Given the description of an element on the screen output the (x, y) to click on. 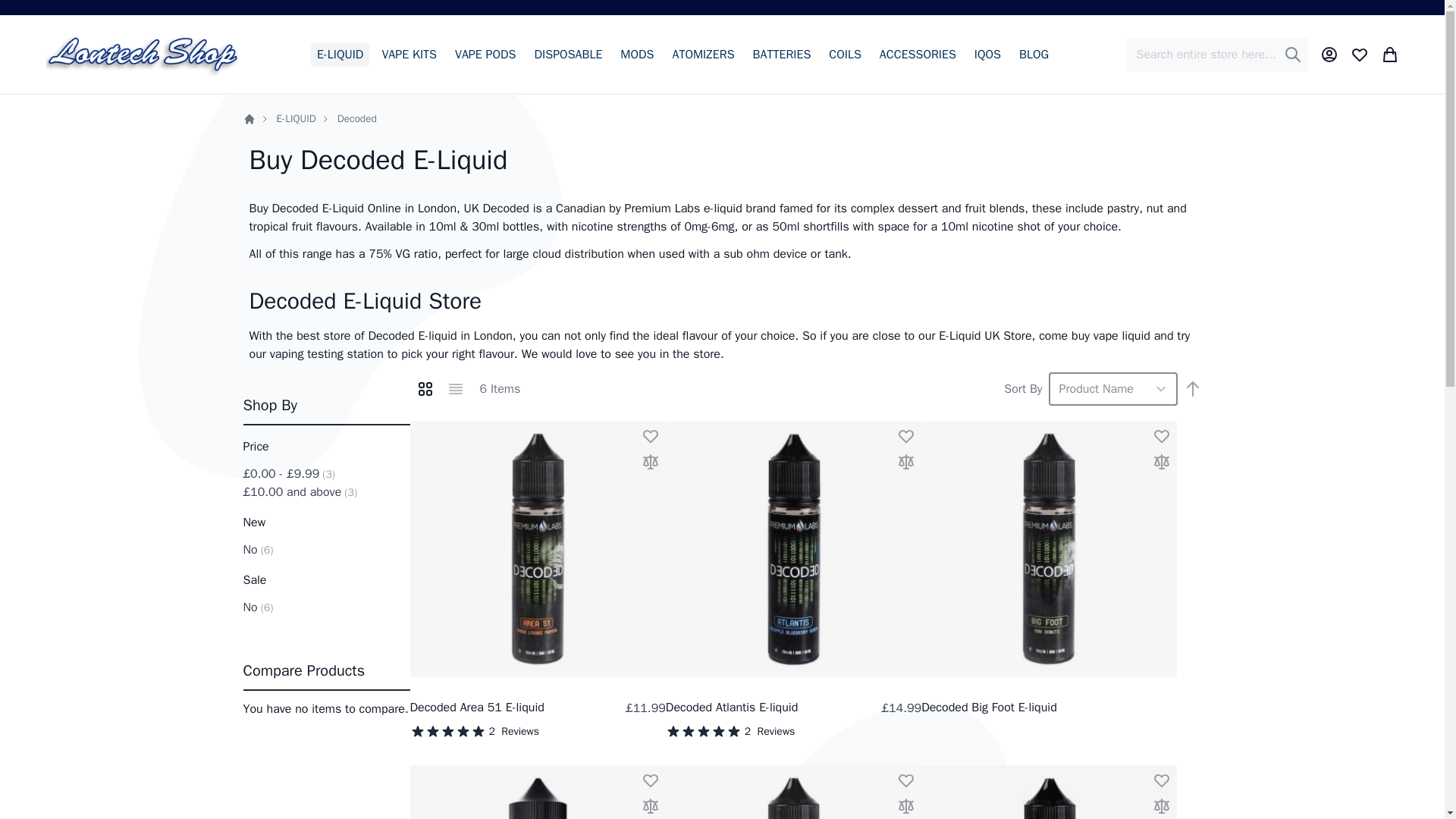
Add to Compare (1161, 461)
Add to Wish List (1161, 435)
Decoded Area 51 E-liquid (476, 707)
BATTERIES (781, 54)
Search (1291, 54)
DISPOSABLE (568, 54)
Go to Home Page (248, 119)
Grid (424, 388)
MODS (636, 54)
VAPE KITS (408, 54)
Add to Wish List (905, 435)
Add to Compare (650, 461)
E-LIQUID (295, 118)
Lontech Vape Shop (142, 53)
My Account (1328, 54)
